Given the description of an element on the screen output the (x, y) to click on. 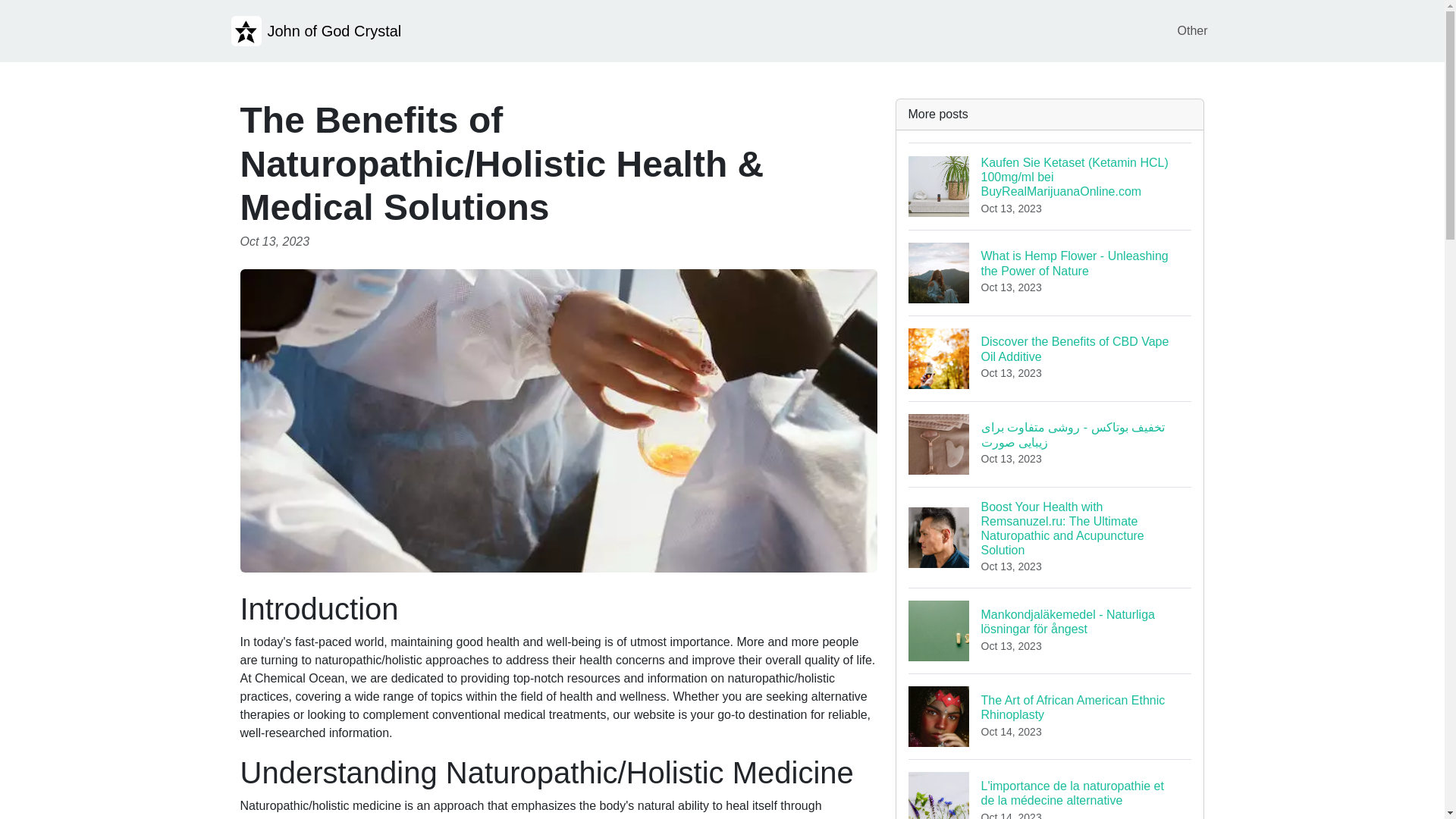
John of God Crystal (315, 30)
Other (1050, 358)
